Given the description of an element on the screen output the (x, y) to click on. 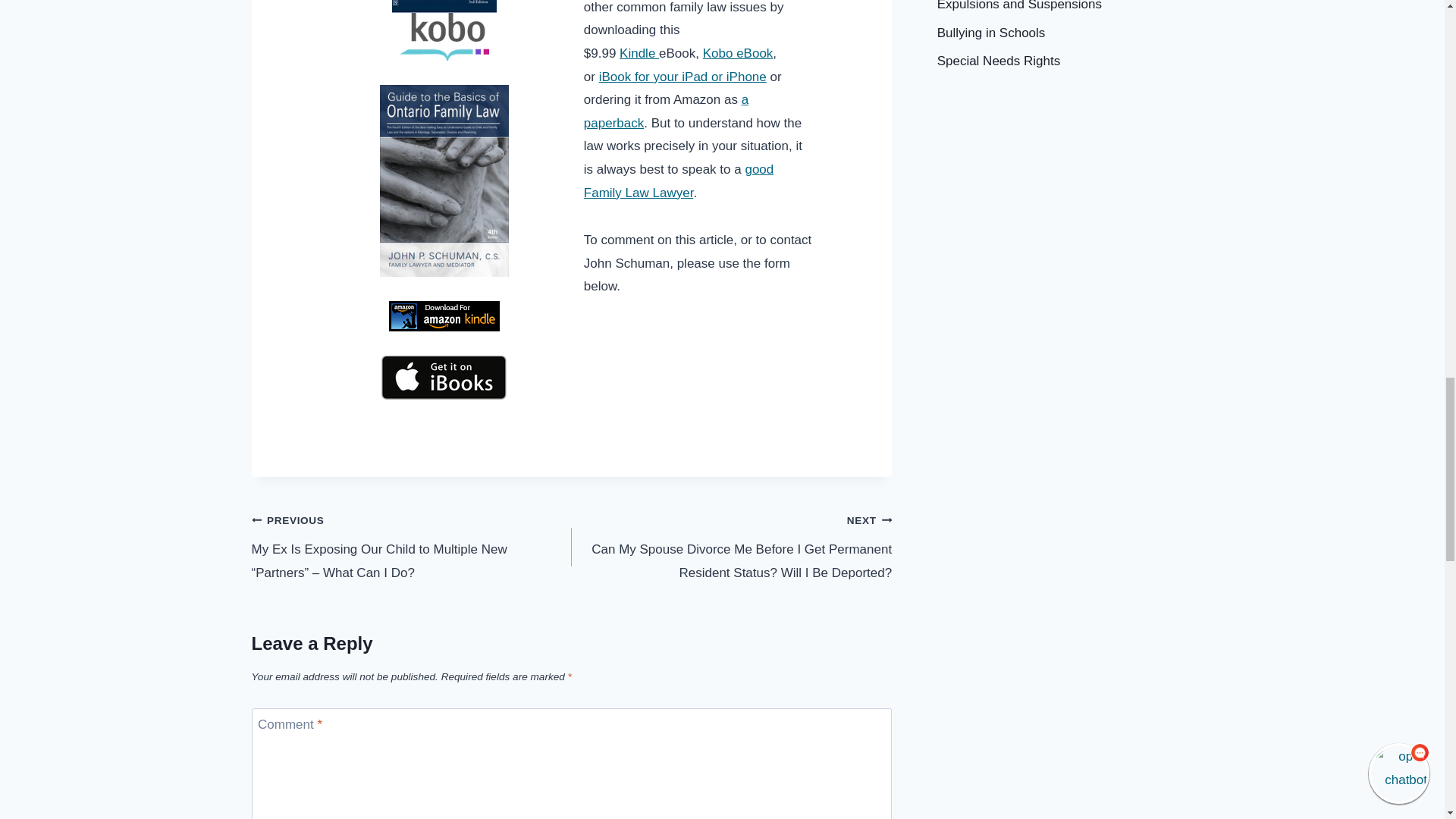
image-15 - John P. Schuman C.S., Child and Family Law (443, 377)
image-9 - John P. Schuman C.S., Child and Family Law (443, 36)
image-13 - John P. Schuman C.S., Child and Family Law (443, 6)
image-10 - John P. Schuman C.S., Child and Family Law (443, 316)
